Given the description of an element on the screen output the (x, y) to click on. 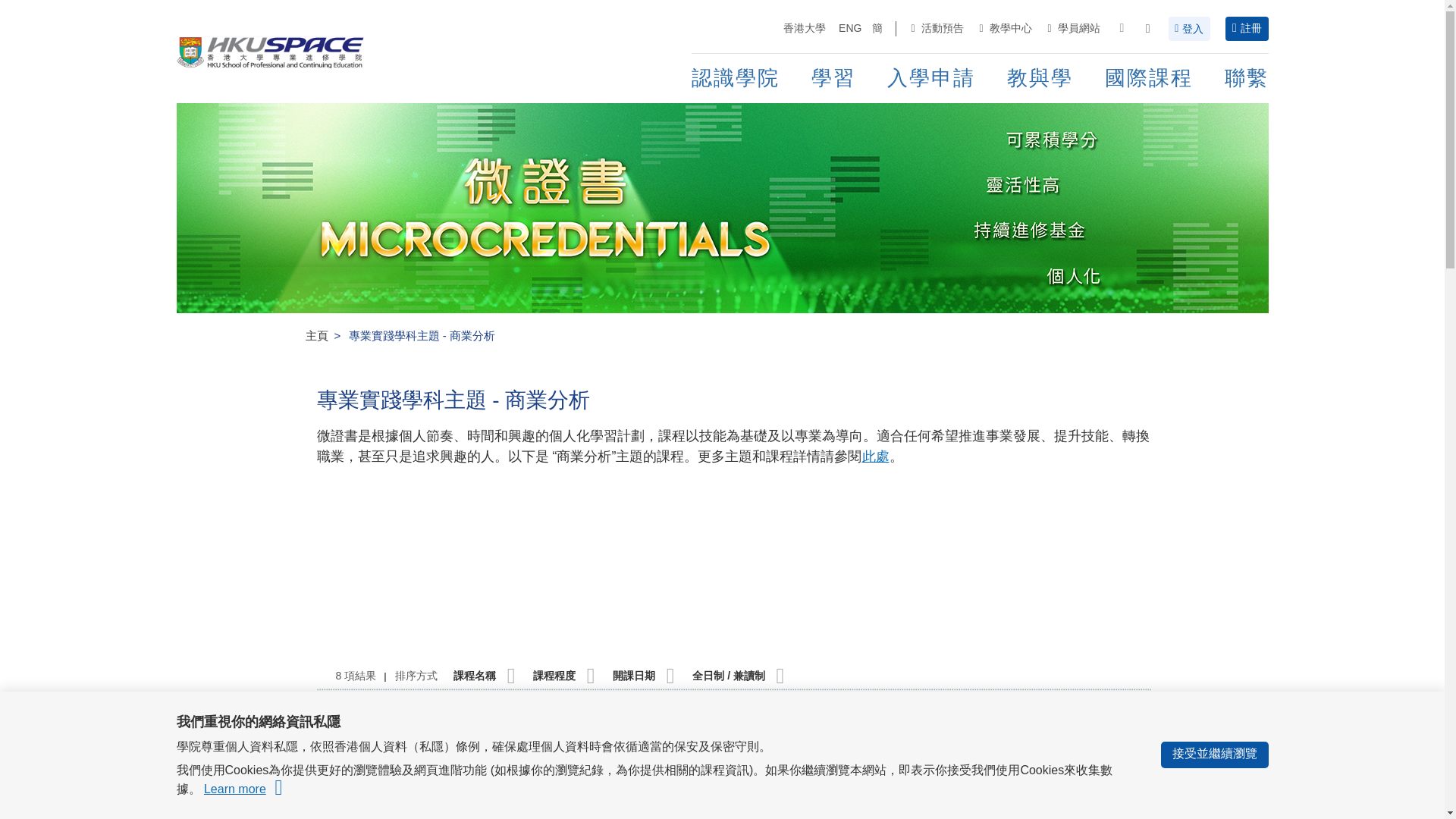
ENG (849, 28)
